Given the description of an element on the screen output the (x, y) to click on. 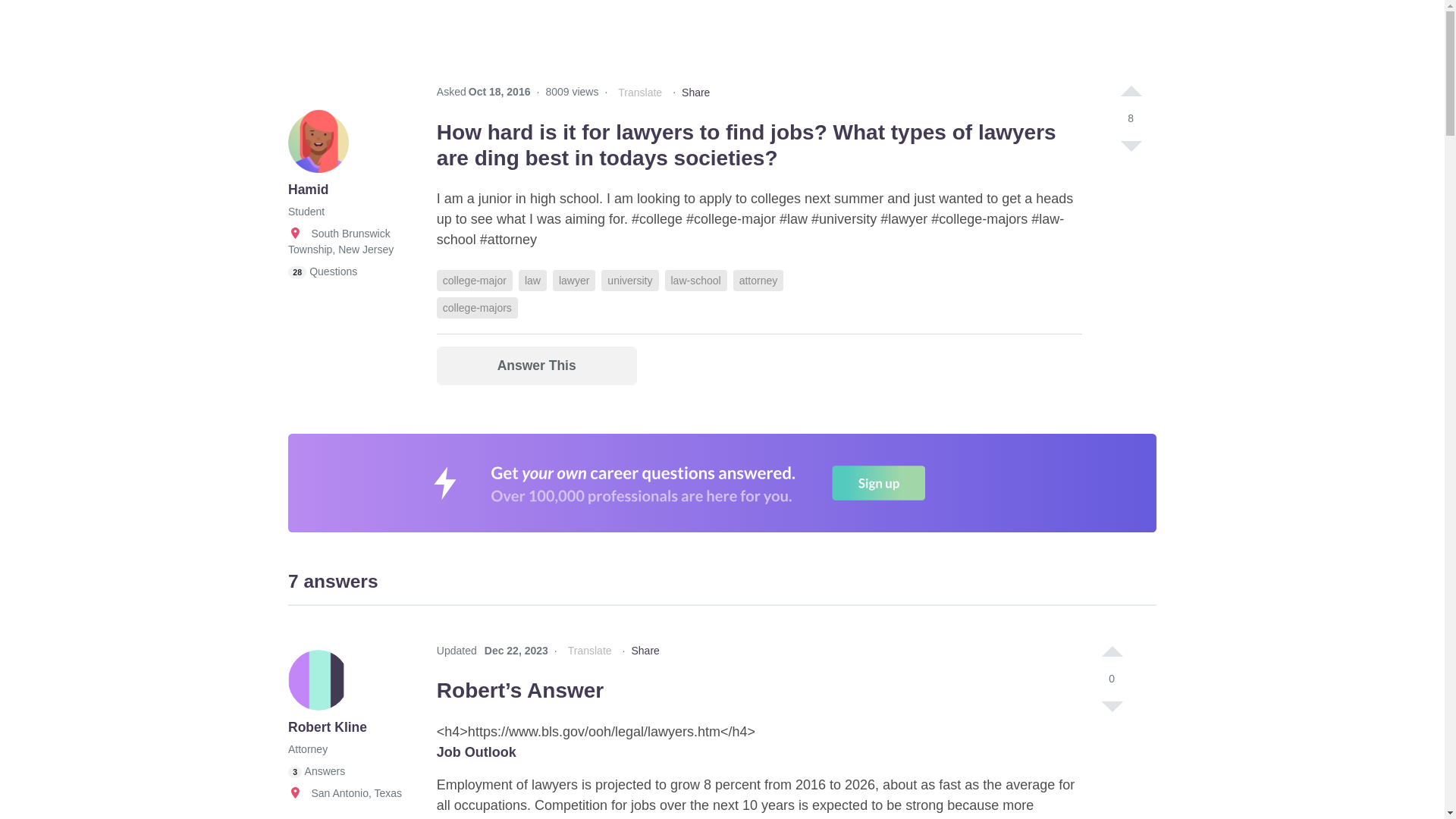
college-majors (477, 307)
lawyer (574, 280)
Translate (639, 92)
college-major (474, 280)
attorney (758, 280)
Share (695, 92)
Answer This (536, 365)
law (532, 280)
university (629, 280)
law-school (694, 280)
